Given the description of an element on the screen output the (x, y) to click on. 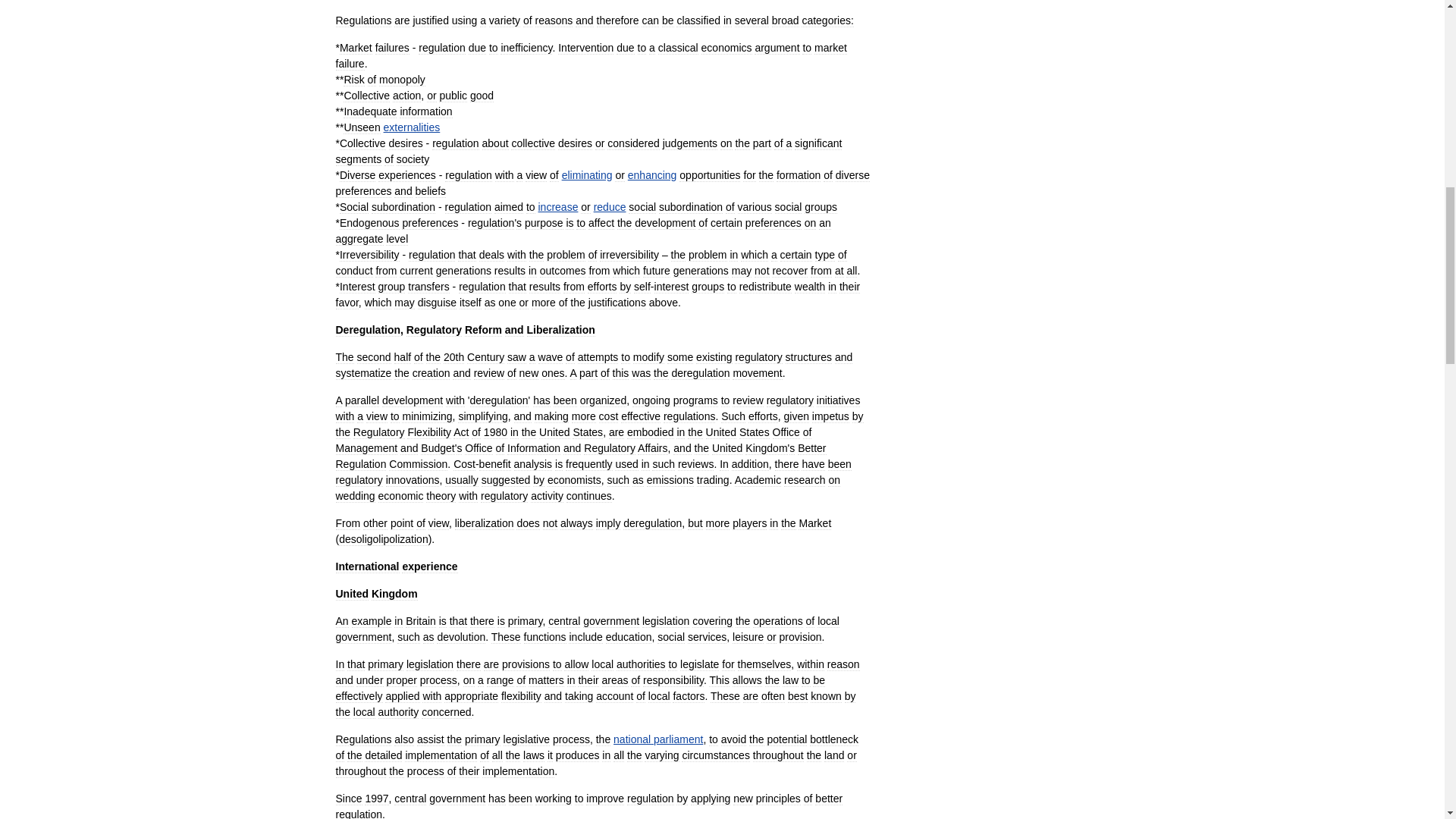
externalities (412, 127)
eliminating (587, 174)
enhancing (652, 174)
national parliament (657, 739)
reduce (610, 206)
increase (558, 206)
